Given the description of an element on the screen output the (x, y) to click on. 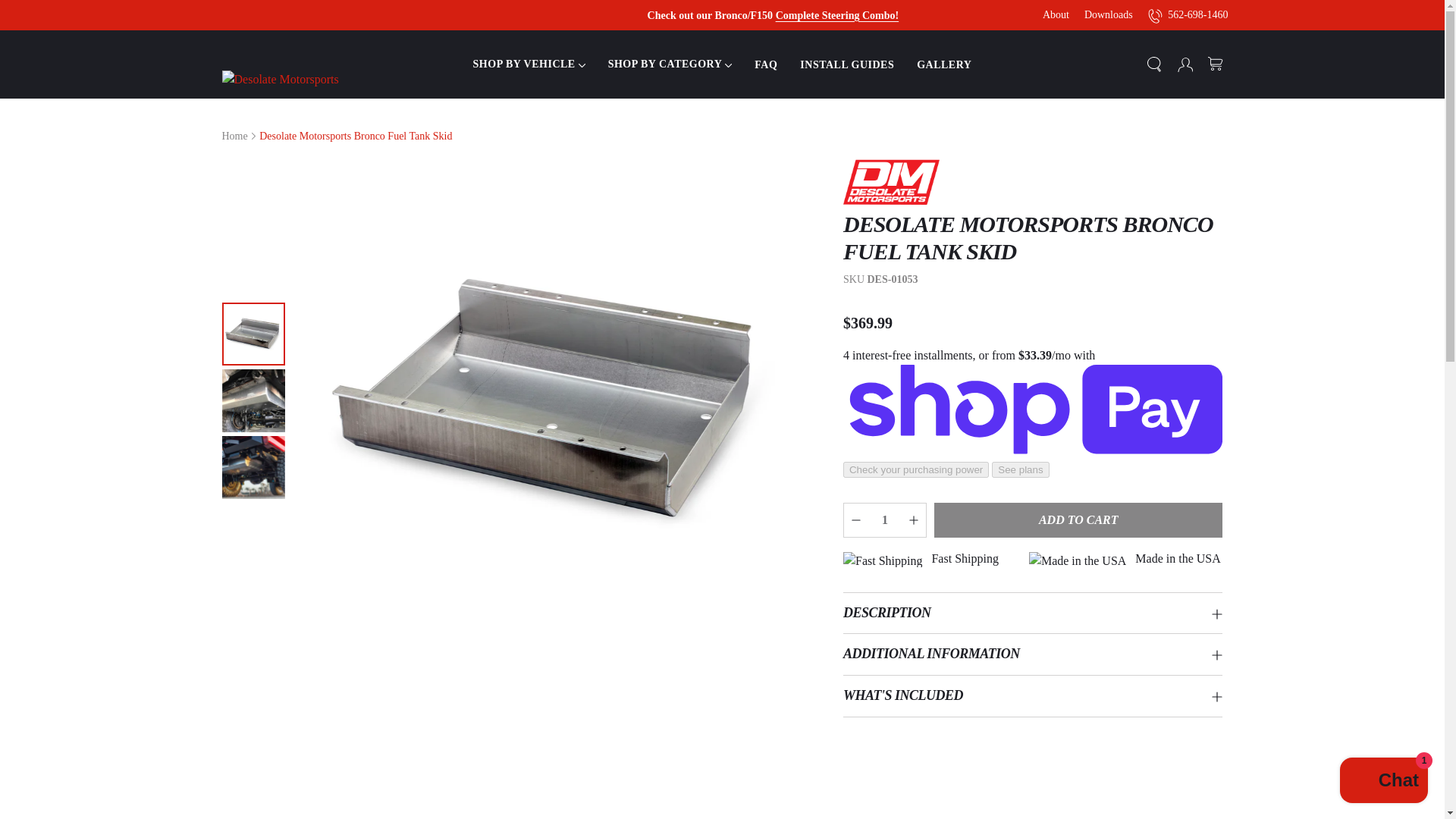
Downloads (1108, 14)
Desolate Motorsports 89-96 Complete Steering Combo (837, 14)
Complete Steering Combo! (837, 14)
1 (884, 520)
SHOP BY VEHICLE (529, 64)
Downloads (1108, 14)
About (1055, 14)
Shop by vehicle (529, 64)
Desolate Motorsports (289, 77)
562-698-1460 (1188, 14)
About (1055, 14)
